Given the description of an element on the screen output the (x, y) to click on. 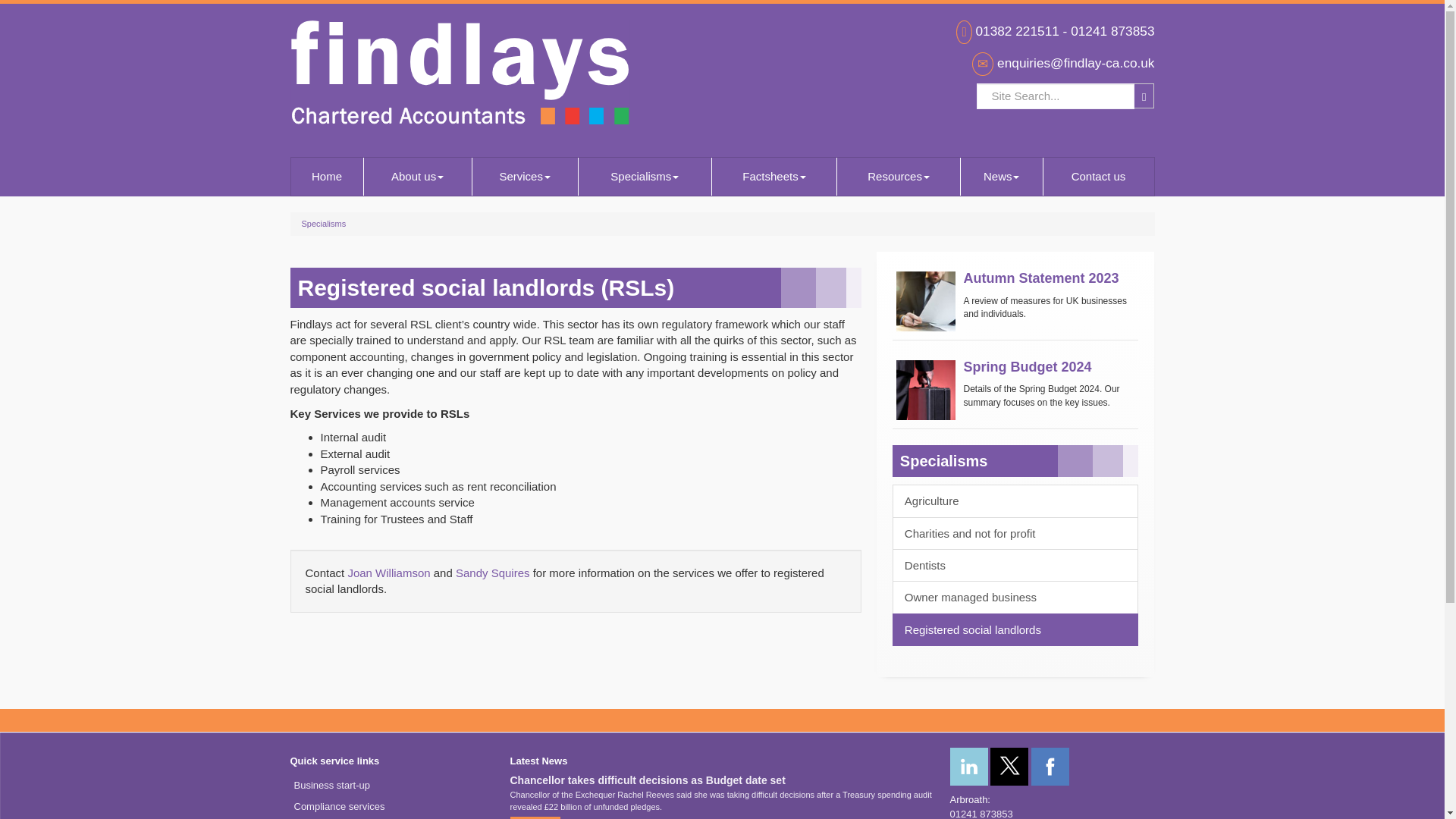
Home (326, 176)
Factsheets (773, 176)
Services (524, 176)
Specialisms (644, 176)
About us (417, 176)
Services (524, 176)
About us (417, 176)
Specialisms (644, 176)
Home (326, 176)
